Given the description of an element on the screen output the (x, y) to click on. 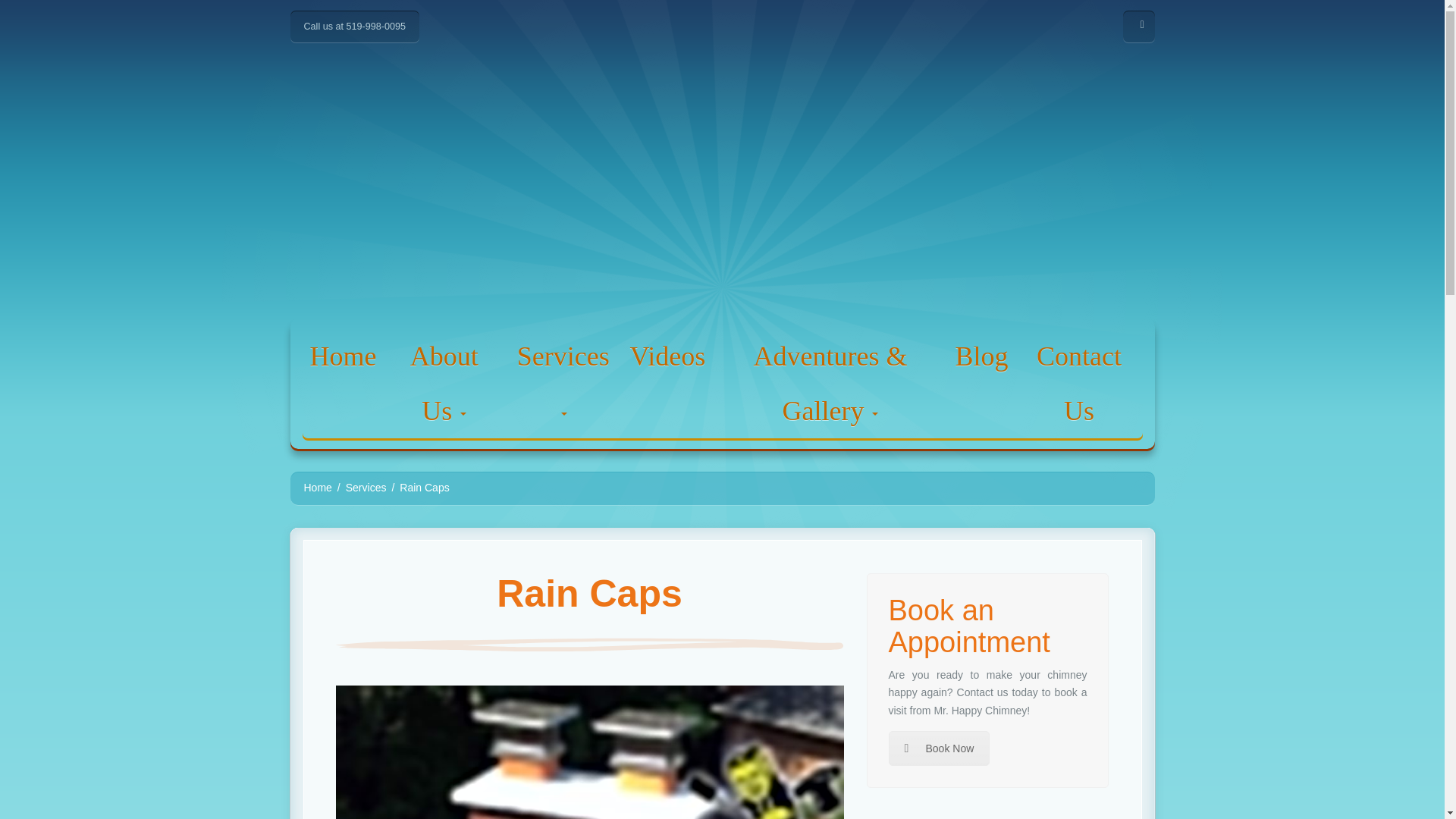
Call us at 519-998-0095 (353, 26)
Blog (981, 356)
Videos (667, 356)
Home (316, 487)
Services (563, 383)
Call us at 519-998-0095 (353, 26)
Home (342, 356)
Mr. Happy Chimney (721, 179)
About Us (443, 383)
Services (366, 487)
